Given the description of an element on the screen output the (x, y) to click on. 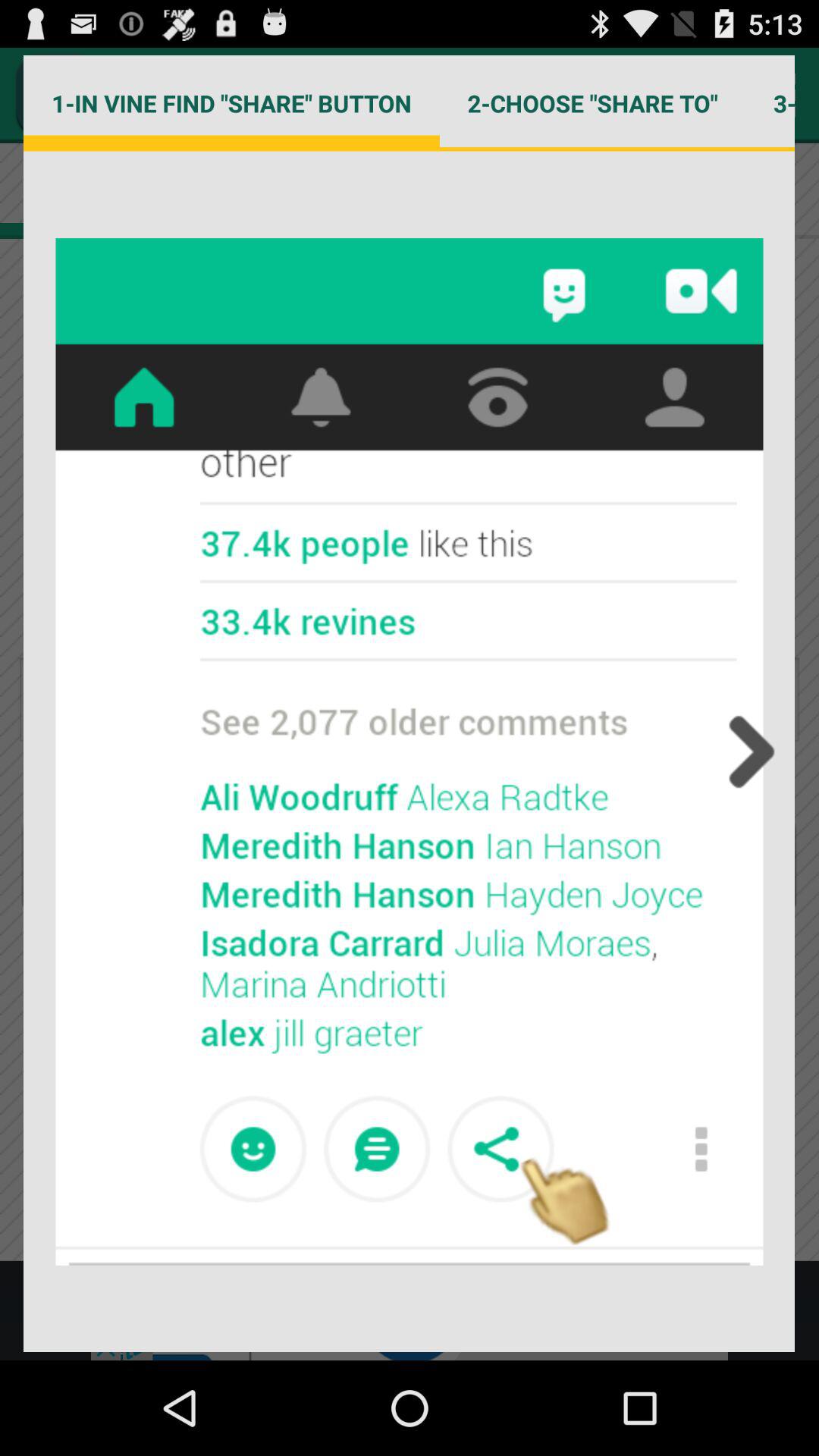
next page (747, 751)
